Given the description of an element on the screen output the (x, y) to click on. 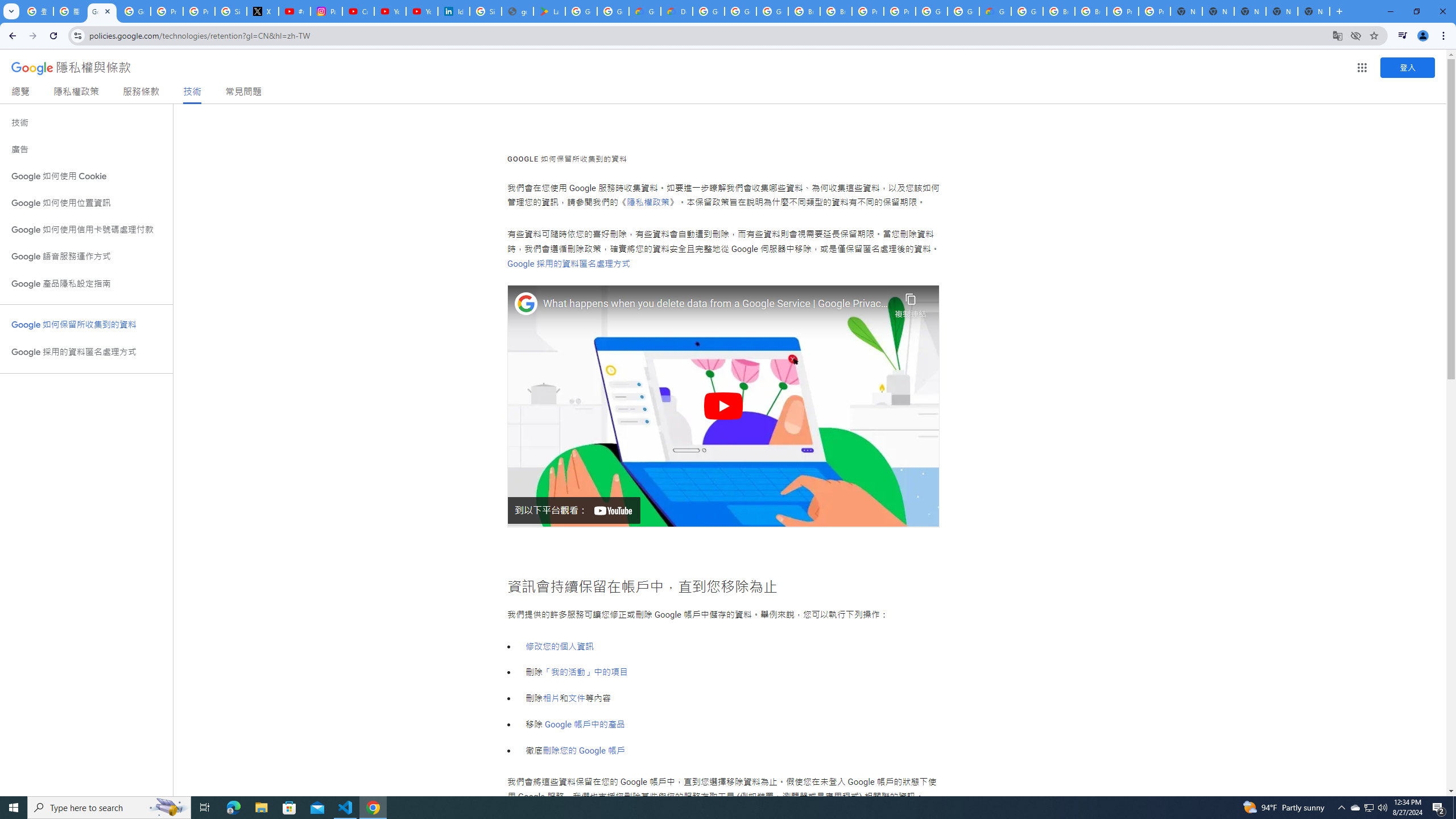
X (262, 11)
google_privacy_policy_en.pdf (517, 11)
Google Cloud Platform (931, 11)
Browse Chrome as a guest - Computer - Google Chrome Help (804, 11)
New Tab (1313, 11)
